Given the description of an element on the screen output the (x, y) to click on. 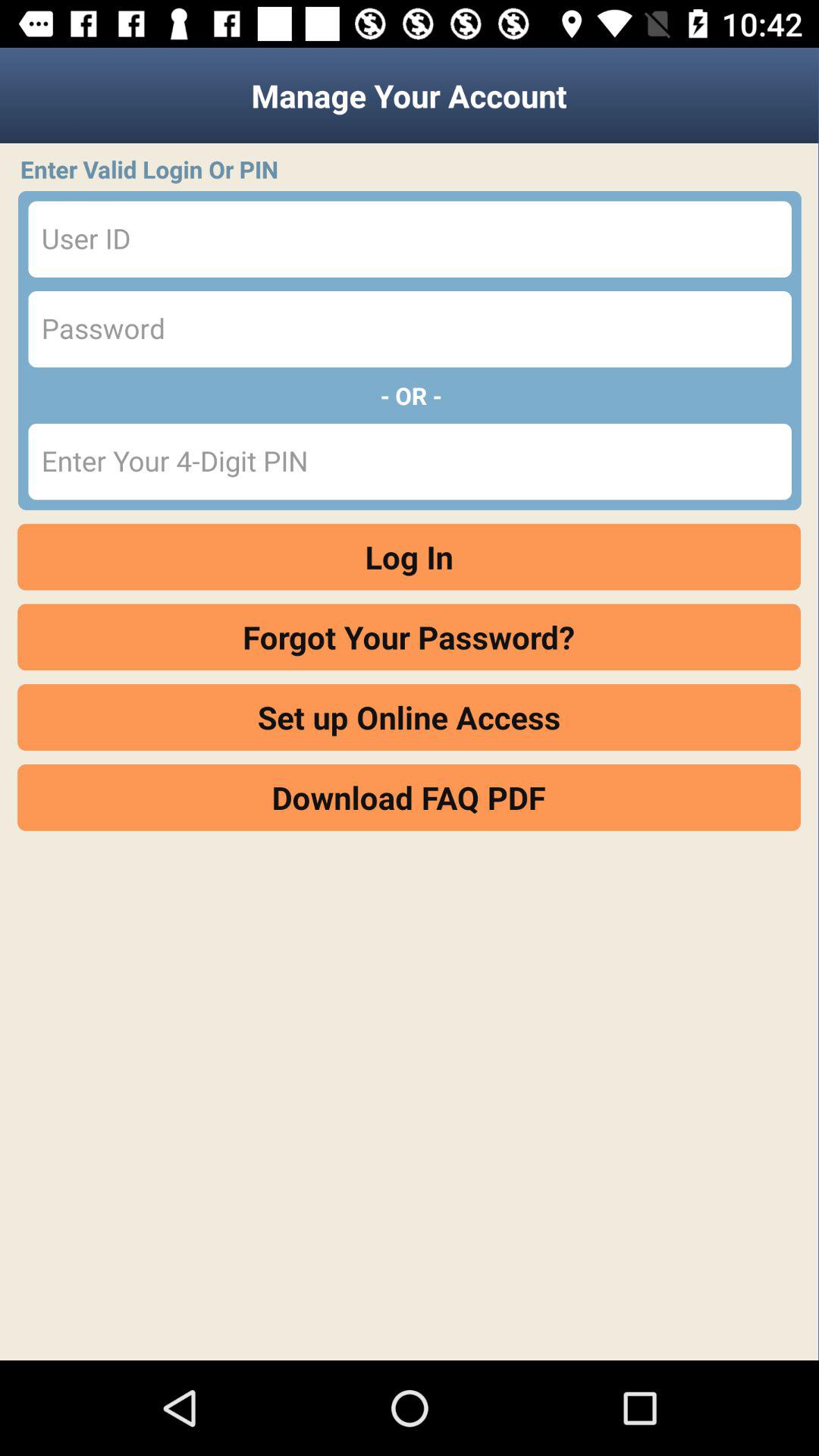
turn on manage your account item (409, 95)
